Given the description of an element on the screen output the (x, y) to click on. 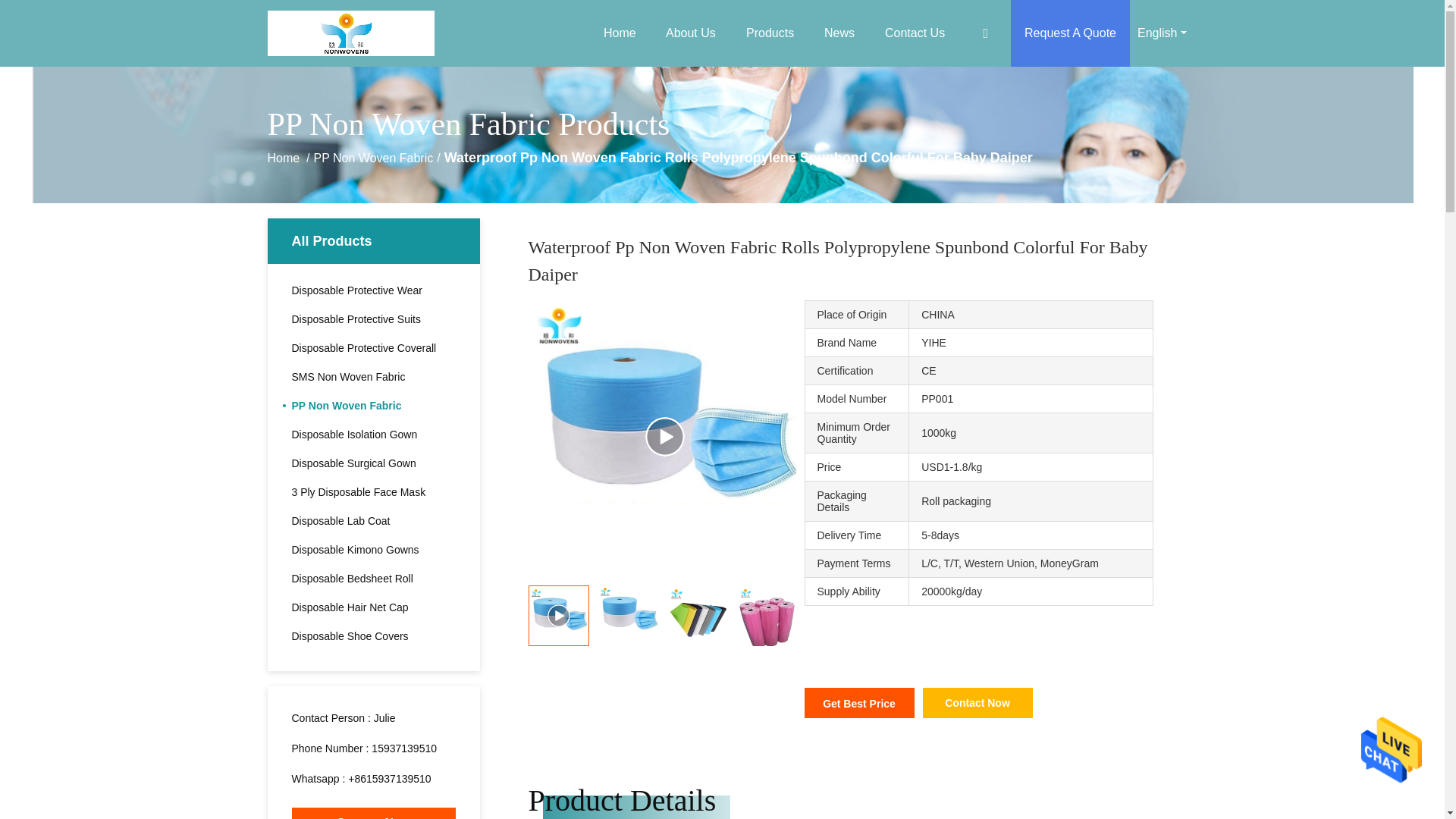
Products (769, 33)
About Us (690, 33)
Home (619, 33)
Request A Quote (1069, 33)
